Given the description of an element on the screen output the (x, y) to click on. 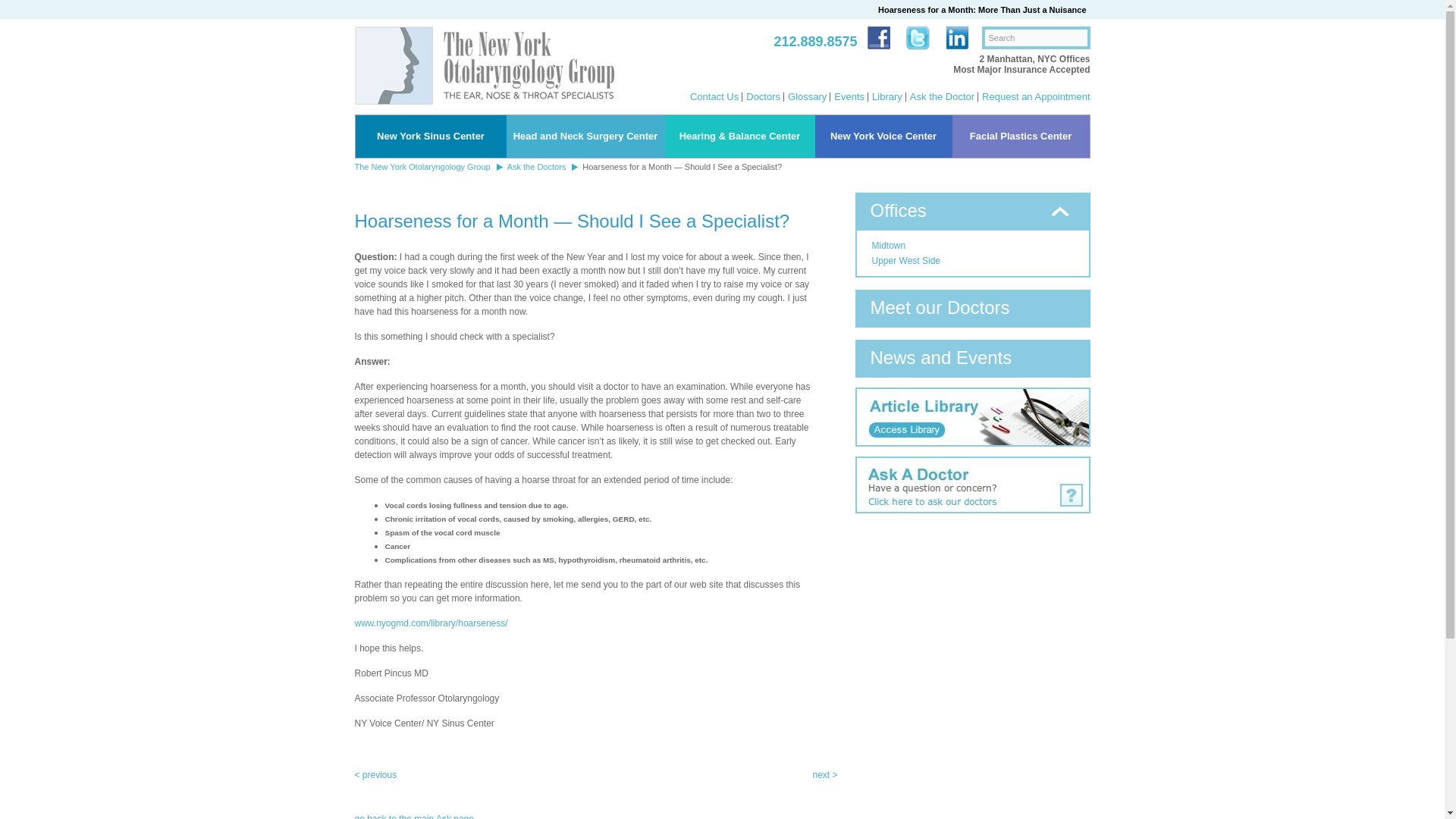
Glossary (807, 96)
Ask the Doctor (942, 96)
Contact Us (714, 96)
New York Sinus Center (430, 136)
Head and Neck Surgery Center (585, 136)
ask-the-doctor (973, 461)
Library (887, 96)
Events (849, 96)
Doctors (762, 96)
Search (1035, 37)
Request an Appointment (1035, 96)
212.889.8575 (815, 42)
